Given the description of an element on the screen output the (x, y) to click on. 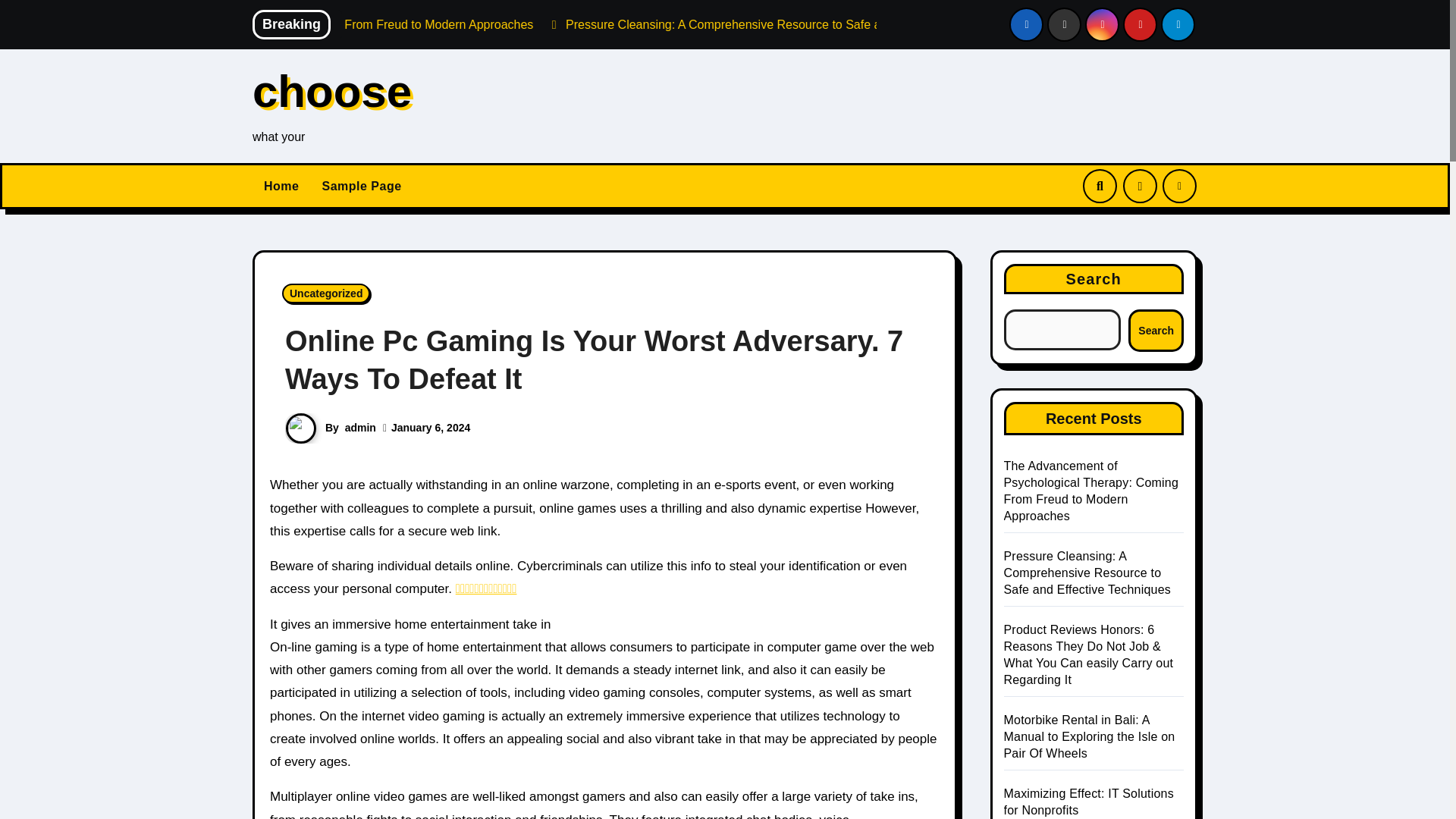
Home (280, 187)
choose (331, 91)
Sample Page (361, 187)
admin (360, 427)
Home (280, 187)
Uncategorized (325, 293)
January 6, 2024 (430, 427)
